Given the description of an element on the screen output the (x, y) to click on. 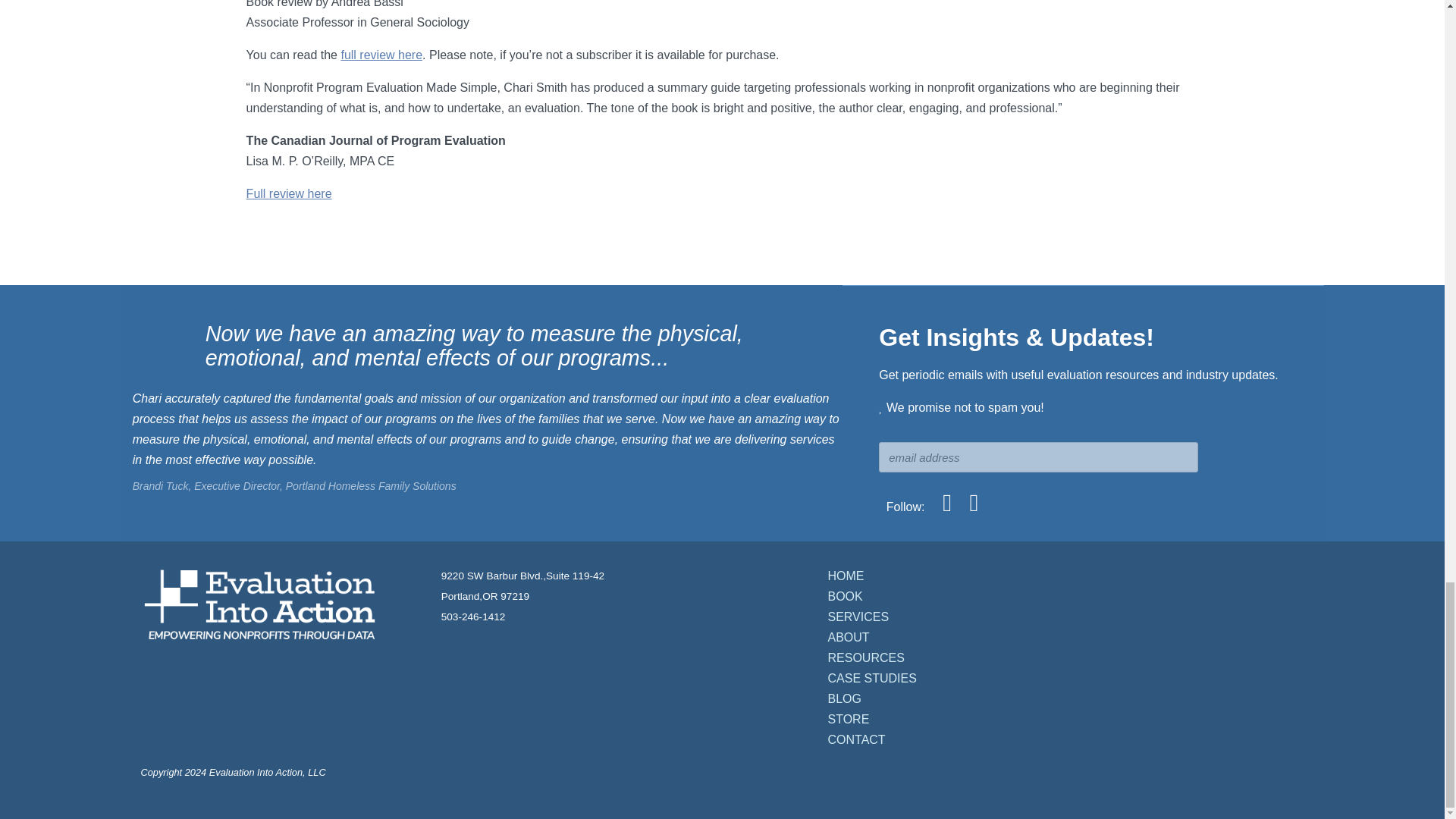
SERVICES (857, 616)
HOME (845, 575)
BOOK (844, 595)
Go! (1232, 457)
RESOURCES (865, 657)
ABOUT (847, 636)
full review here (381, 54)
Full review here (288, 193)
Go! (1232, 457)
CASE STUDIES (871, 677)
BLOG (843, 698)
